Given the description of an element on the screen output the (x, y) to click on. 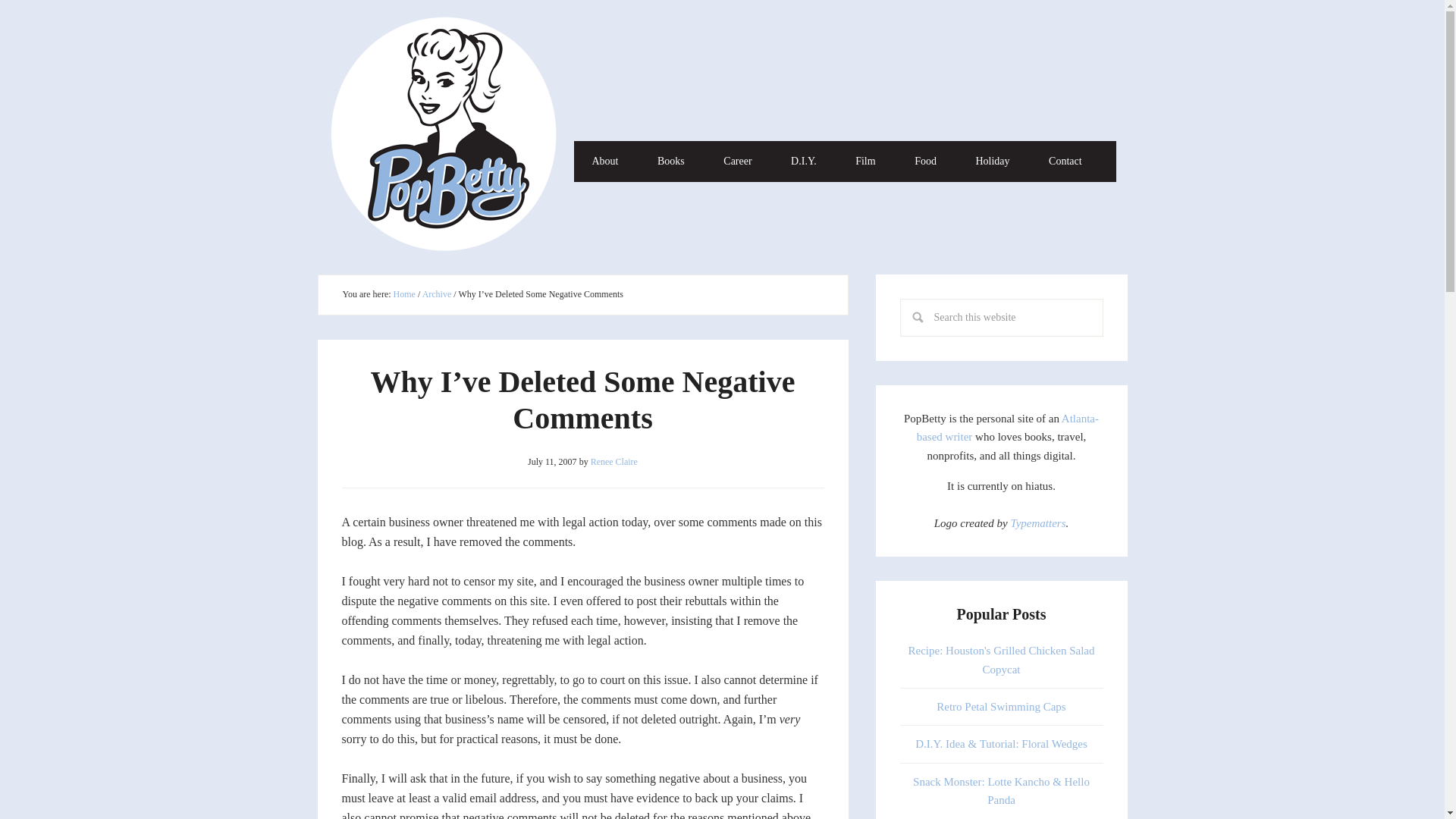
PopBetty (450, 134)
Holiday (991, 160)
Career (737, 160)
Atlanta-based writer (1008, 427)
Home (403, 294)
Food (925, 160)
Renee Claire (614, 461)
Contact (1065, 160)
Typematters (1037, 522)
